Given the description of an element on the screen output the (x, y) to click on. 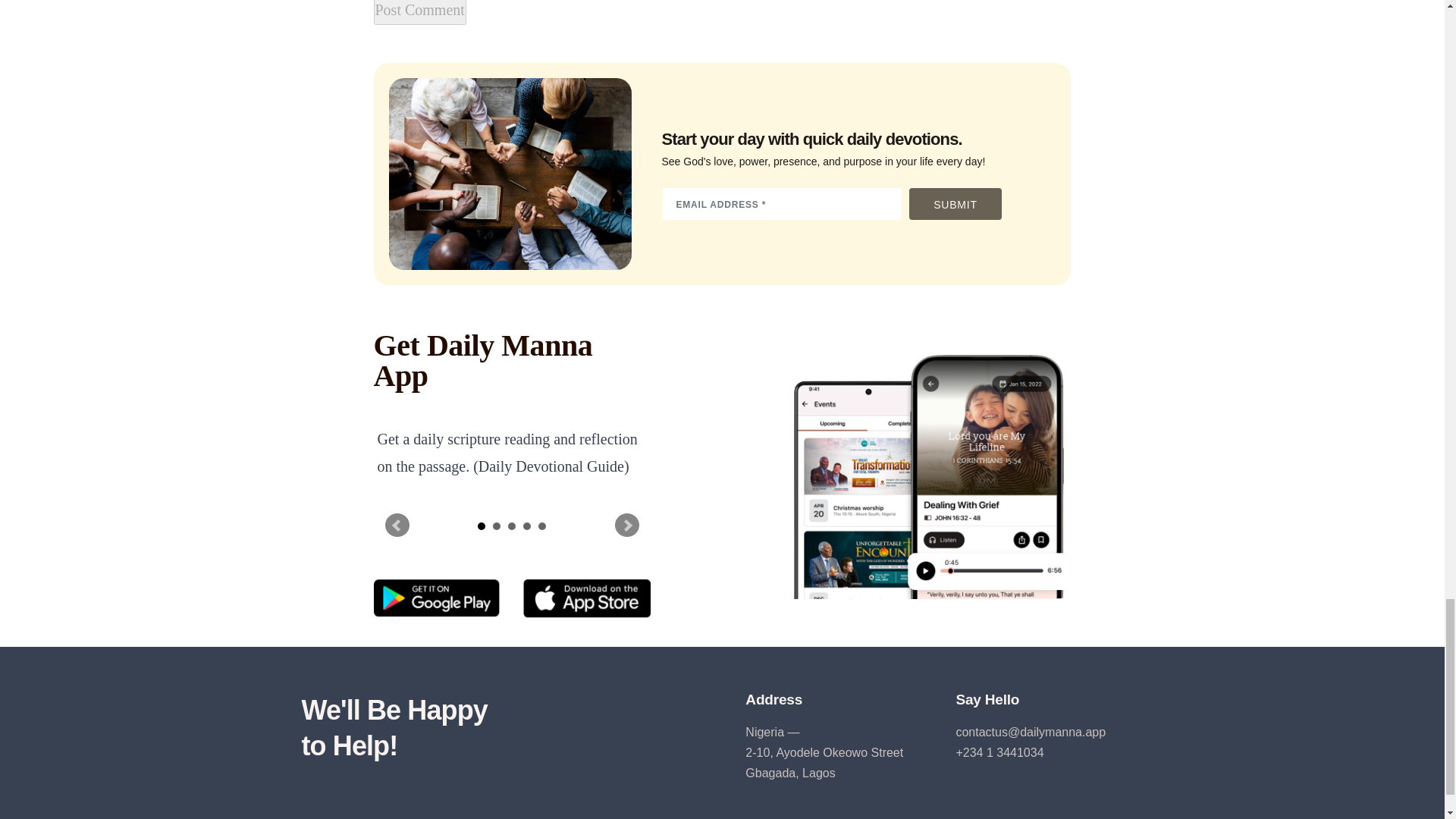
Prev (397, 525)
SUBMIT (954, 204)
1 (480, 525)
Post Comment (418, 12)
Next (626, 525)
4 (526, 525)
2 (496, 525)
3 (511, 525)
Post Comment (418, 12)
5 (542, 525)
